Given the description of an element on the screen output the (x, y) to click on. 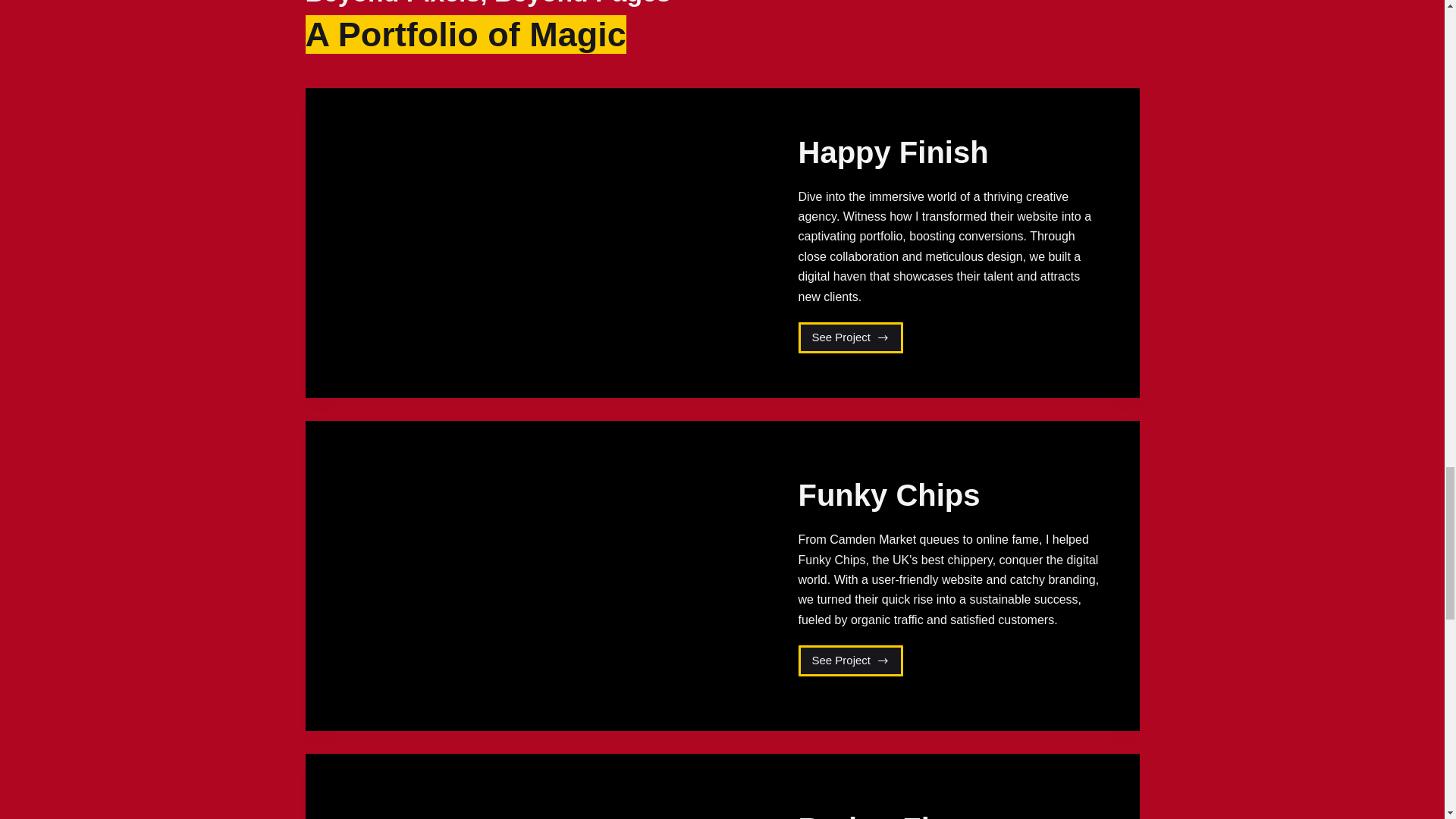
BudgetFitter (887, 815)
Funky Chips (888, 494)
Happy Finish (849, 660)
